Given the description of an element on the screen output the (x, y) to click on. 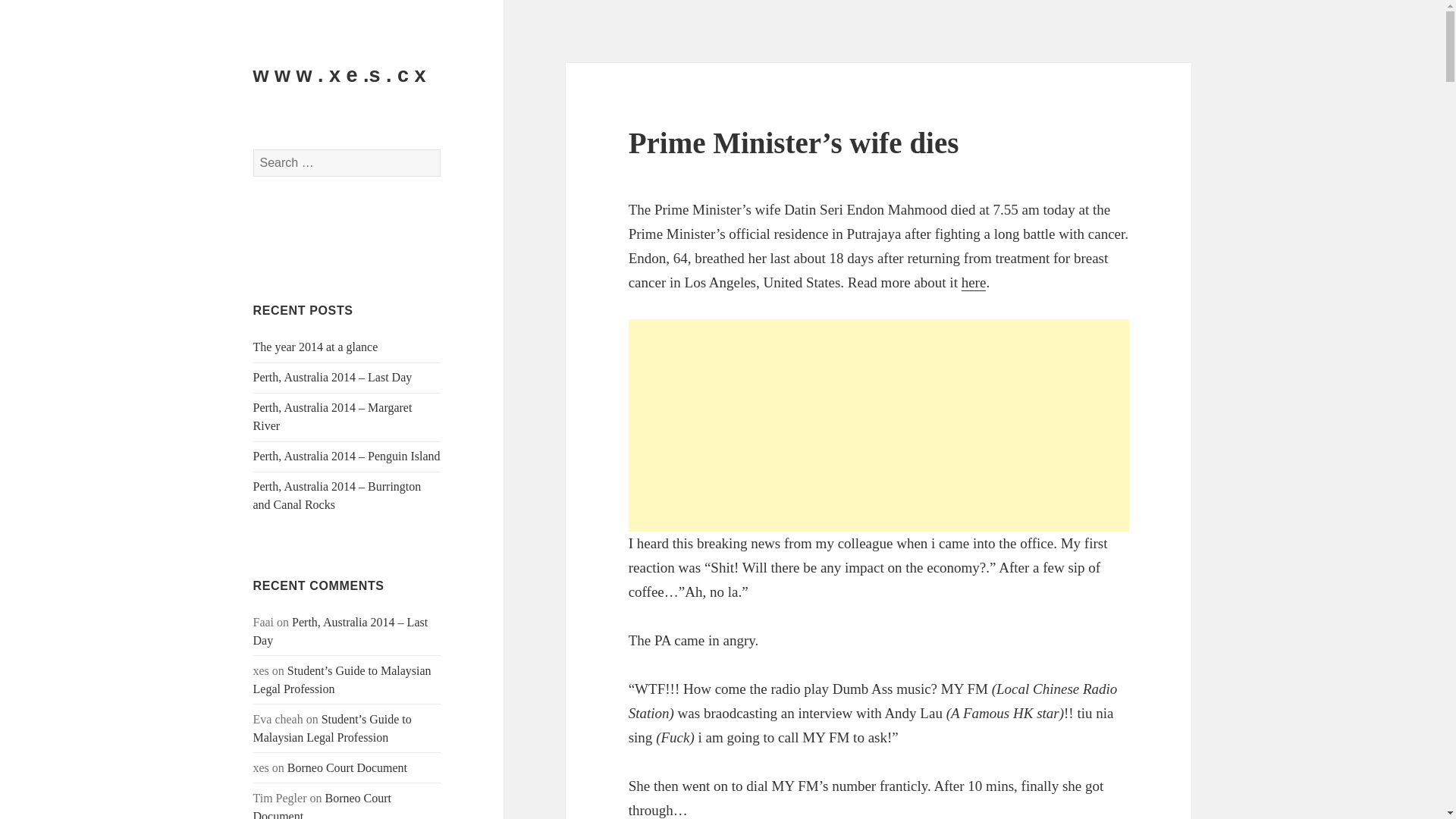
Advertisement (878, 425)
w w w . x e .s . c x (339, 74)
The year 2014 at a glance (315, 346)
Borneo Court Document (322, 805)
Borneo Court Document (346, 767)
